Given the description of an element on the screen output the (x, y) to click on. 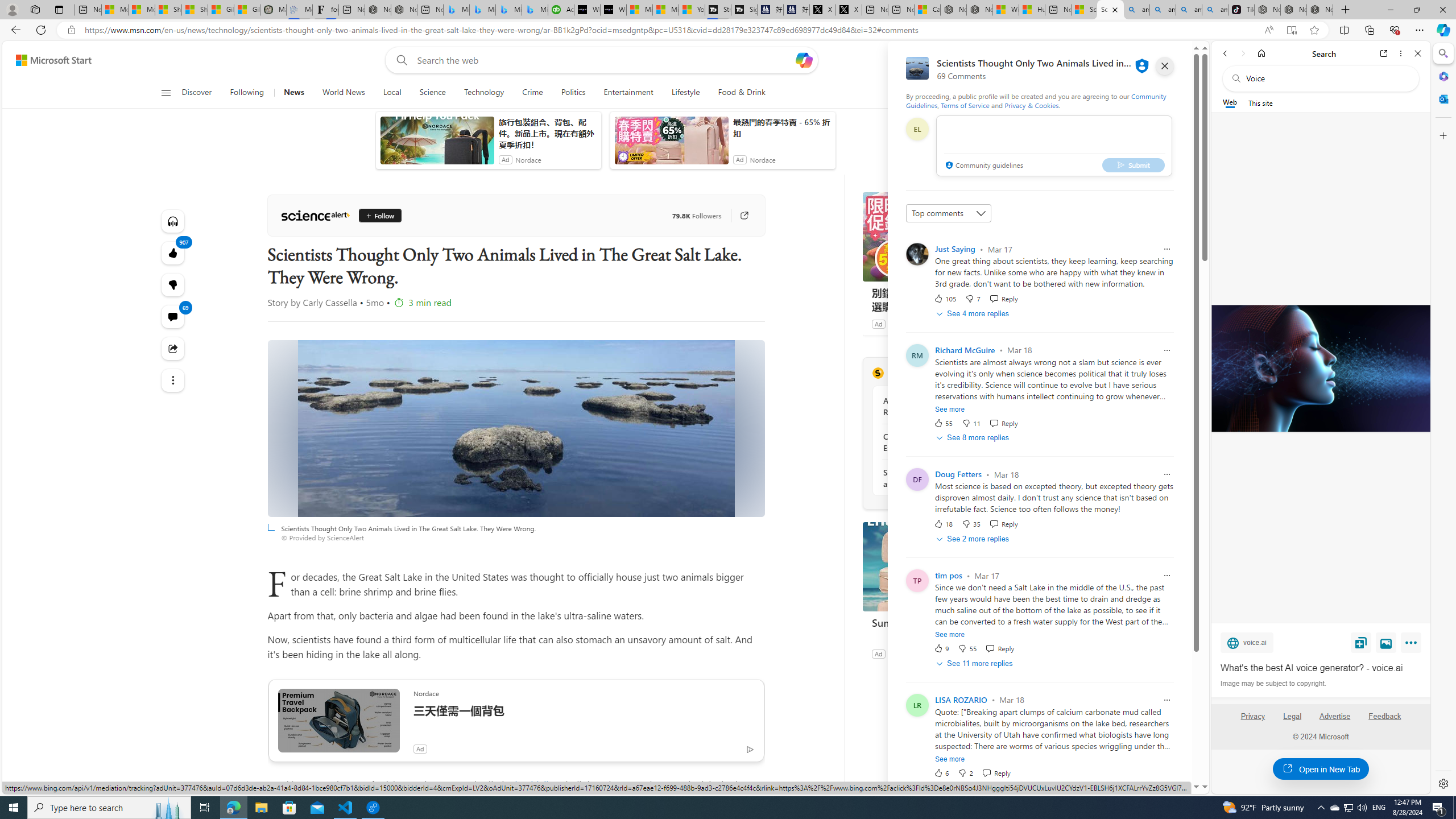
Home (1261, 53)
Privacy (1252, 715)
comment-box (1054, 145)
World News (343, 92)
Feedback (1384, 715)
Microsoft Start Sports (639, 9)
View image (1385, 642)
Terms of Service (965, 104)
More like this907Fewer like thisView comments (172, 284)
X (848, 9)
907 Like (172, 252)
Lifestyle (685, 92)
Collections (1369, 29)
Advertise (1334, 720)
